Given the description of an element on the screen output the (x, y) to click on. 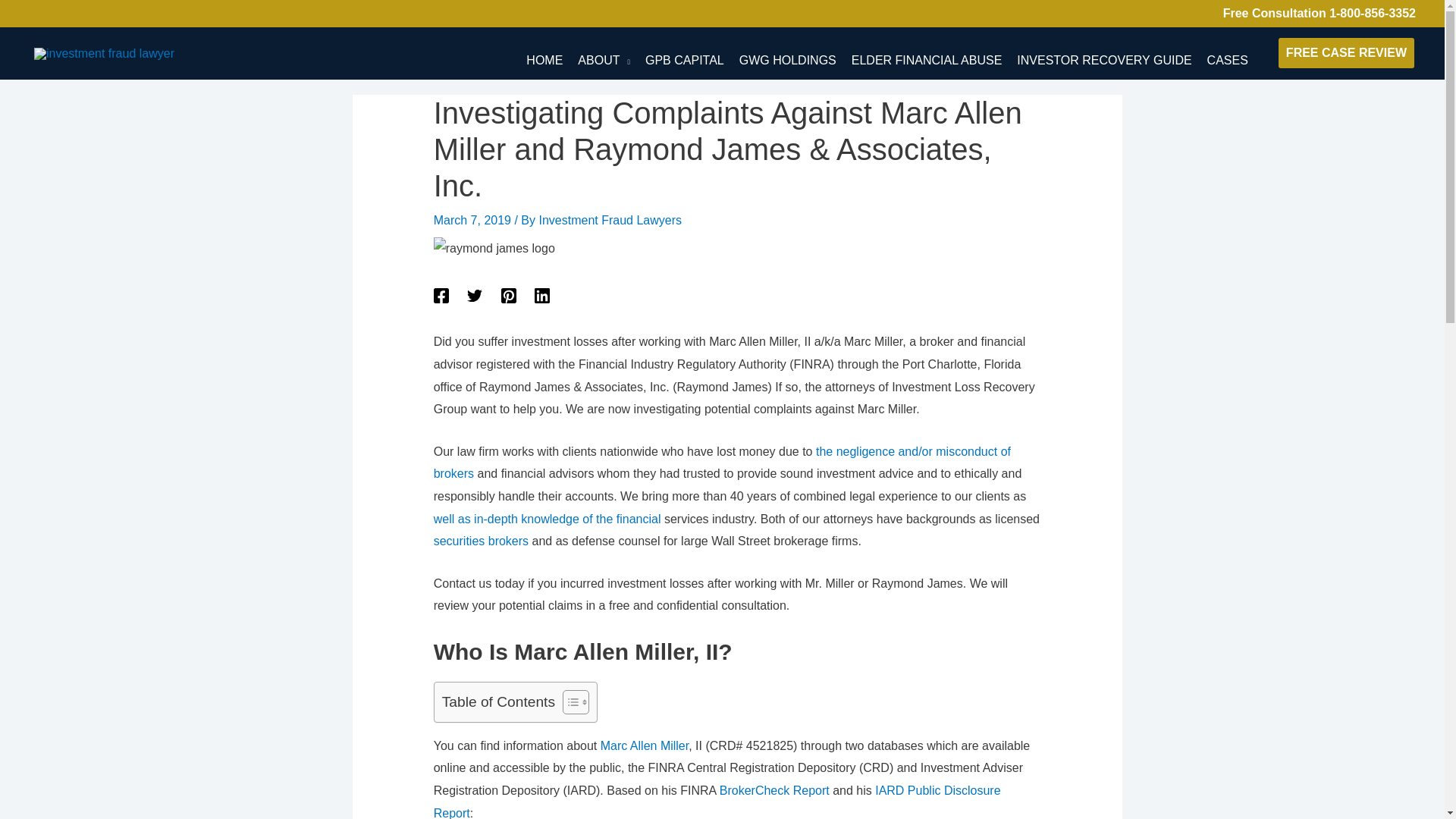
FREE CASE REVIEW (1346, 52)
GPB CAPITAL (688, 53)
View all posts by Investment Fraud Lawyers (609, 219)
Free Consultation 1-800-856-3352 (1319, 13)
CASES (1231, 53)
INVESTOR RECOVERY GUIDE (1107, 53)
ABOUT (607, 53)
ELDER FINANCIAL ABUSE (930, 53)
GWG HOLDINGS (791, 53)
securities brokers (480, 540)
well as in-depth knowledge of the financial (547, 518)
HOME (547, 53)
Investment Fraud Lawyers (609, 219)
